Given the description of an element on the screen output the (x, y) to click on. 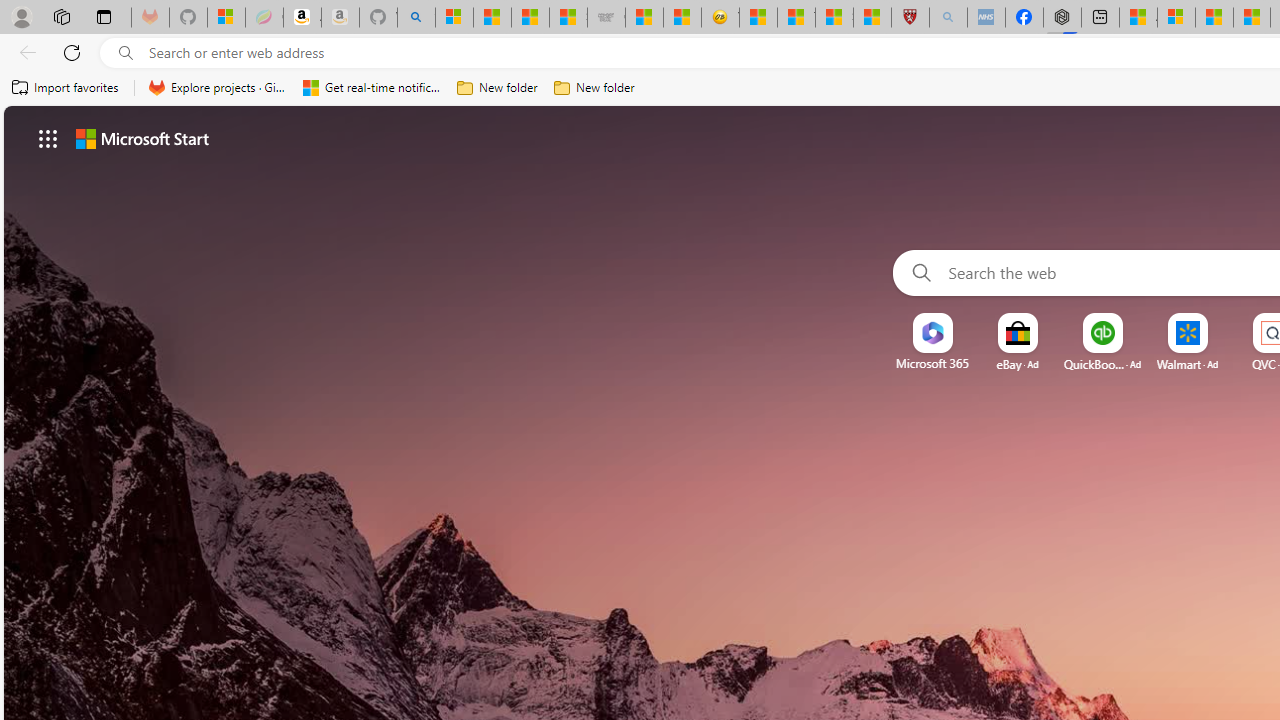
Microsoft start (142, 138)
